Given the description of an element on the screen output the (x, y) to click on. 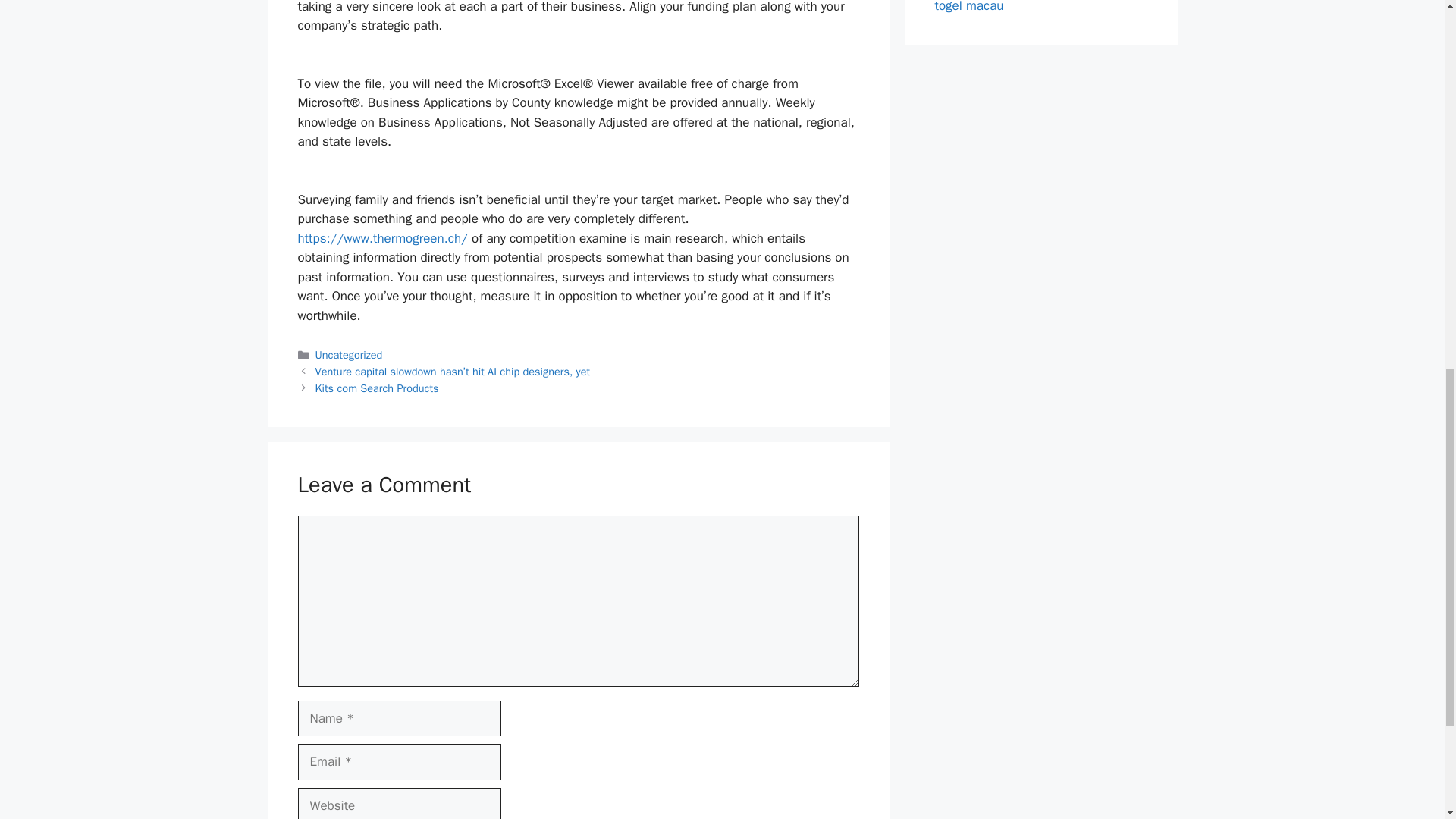
Kits com Search Products (377, 387)
togel macau (968, 6)
Uncategorized (348, 354)
